Given the description of an element on the screen output the (x, y) to click on. 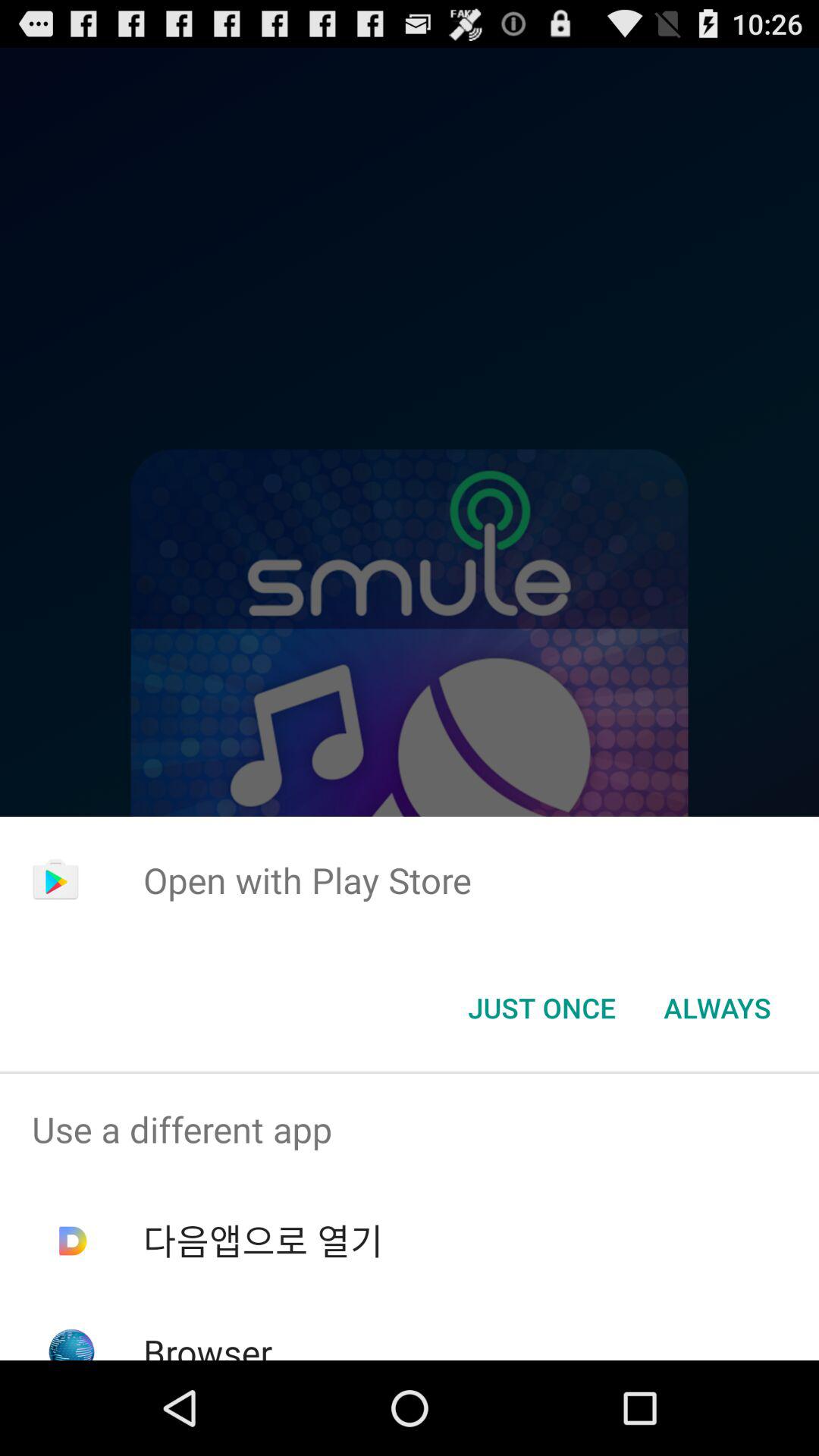
tap button to the right of just once icon (717, 1007)
